Given the description of an element on the screen output the (x, y) to click on. 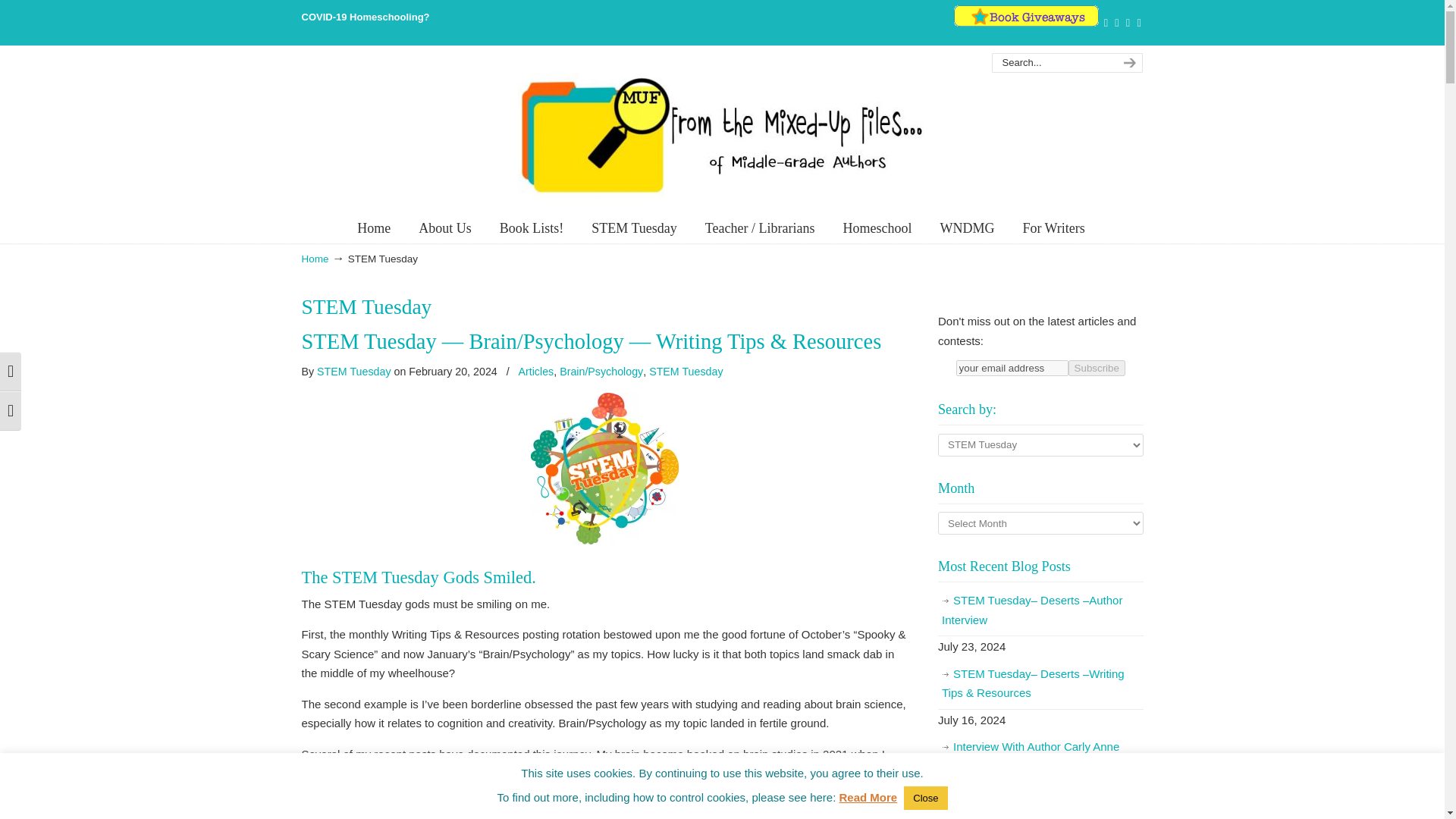
From The Mixed Up Files (721, 134)
Home (374, 228)
Subscribe (1096, 367)
Search... (1051, 62)
STEM Tuesday (634, 228)
Homeschool (876, 228)
your email address (1012, 367)
About Us (444, 228)
search (1126, 62)
search (1126, 62)
COVID-19 Homeschooling? (365, 16)
Book Lists! (531, 228)
search (1126, 62)
